Given the description of an element on the screen output the (x, y) to click on. 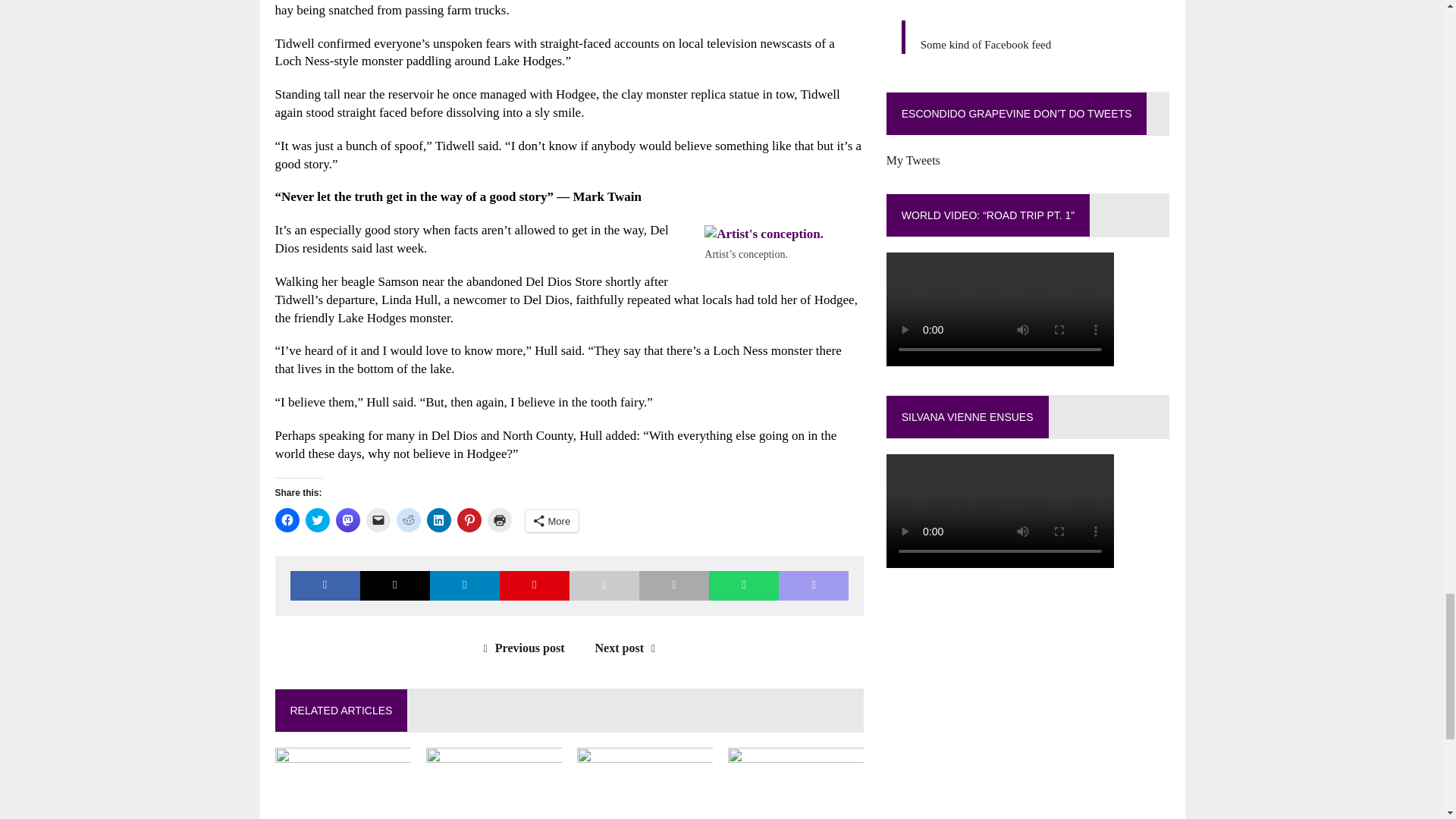
Click to share on Mastodon (346, 519)
Click to email a link to a friend (377, 519)
Click to share on Twitter (316, 519)
Click to share on Facebook (286, 519)
